Given the description of an element on the screen output the (x, y) to click on. 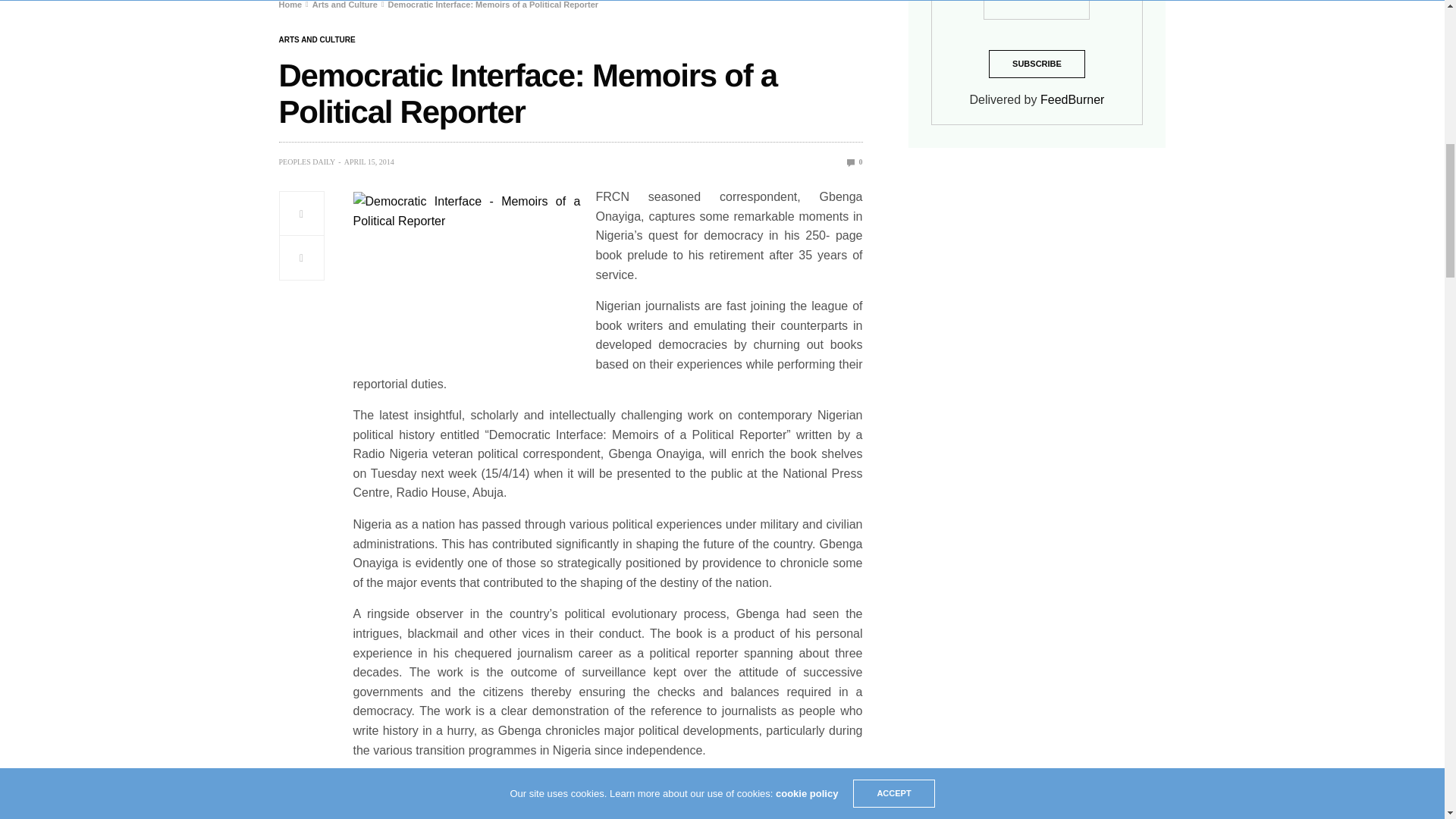
Posts by Peoples Daily (307, 162)
Arts and Culture (345, 4)
0 (855, 162)
ARTS AND CULTURE (317, 40)
Democratic Interface: Memoirs of a Political Reporter (855, 162)
Home (290, 4)
PEOPLES DAILY (307, 162)
Arts and Culture (317, 40)
Subscribe (1036, 63)
